Given the description of an element on the screen output the (x, y) to click on. 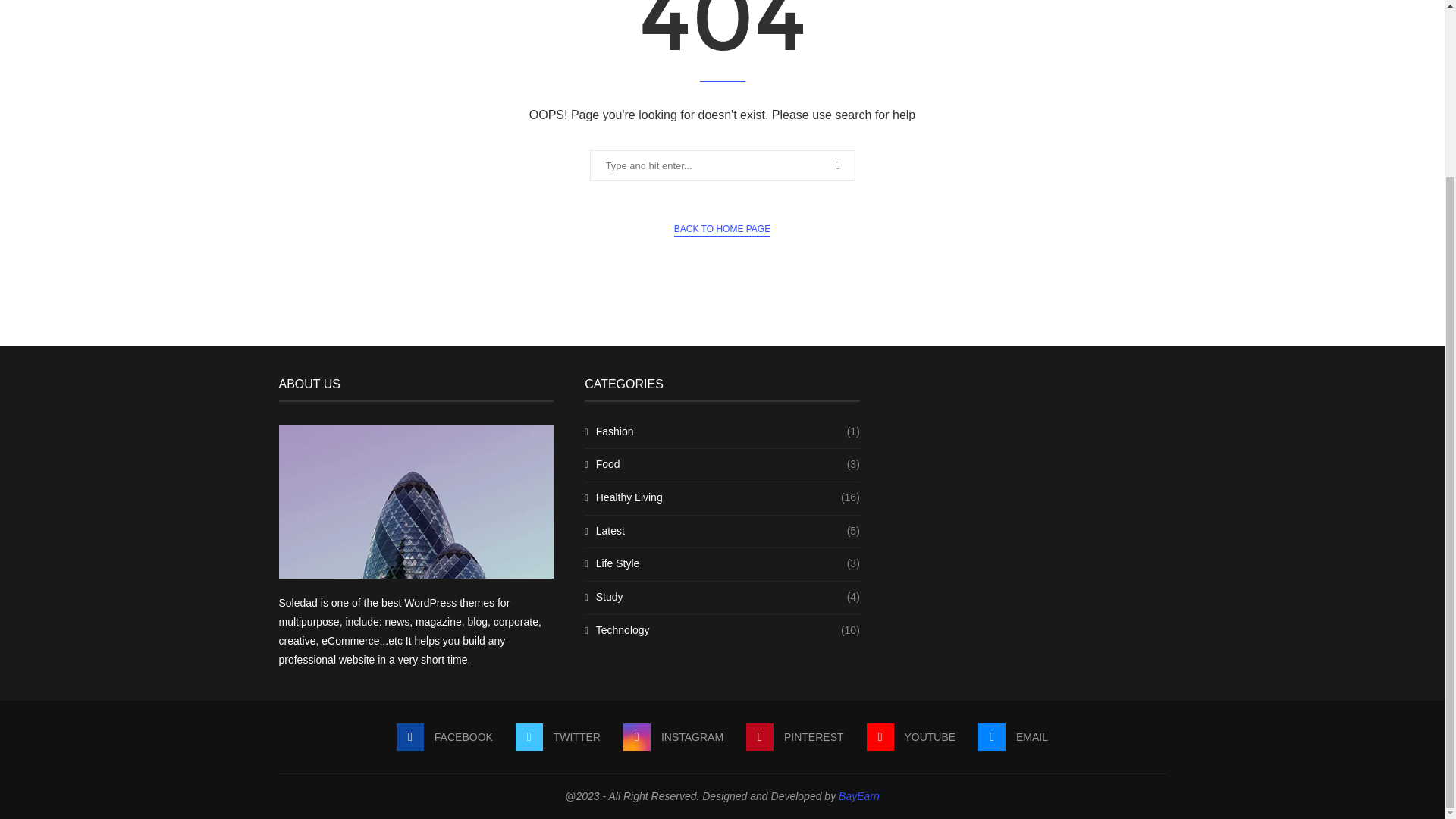
BACK TO HOME PAGE (722, 228)
BayEarn (858, 796)
YOUTUBE (911, 737)
FACEBOOK (444, 737)
INSTAGRAM (673, 737)
EMAIL (1013, 737)
PINTEREST (794, 737)
TWITTER (557, 737)
